Given the description of an element on the screen output the (x, y) to click on. 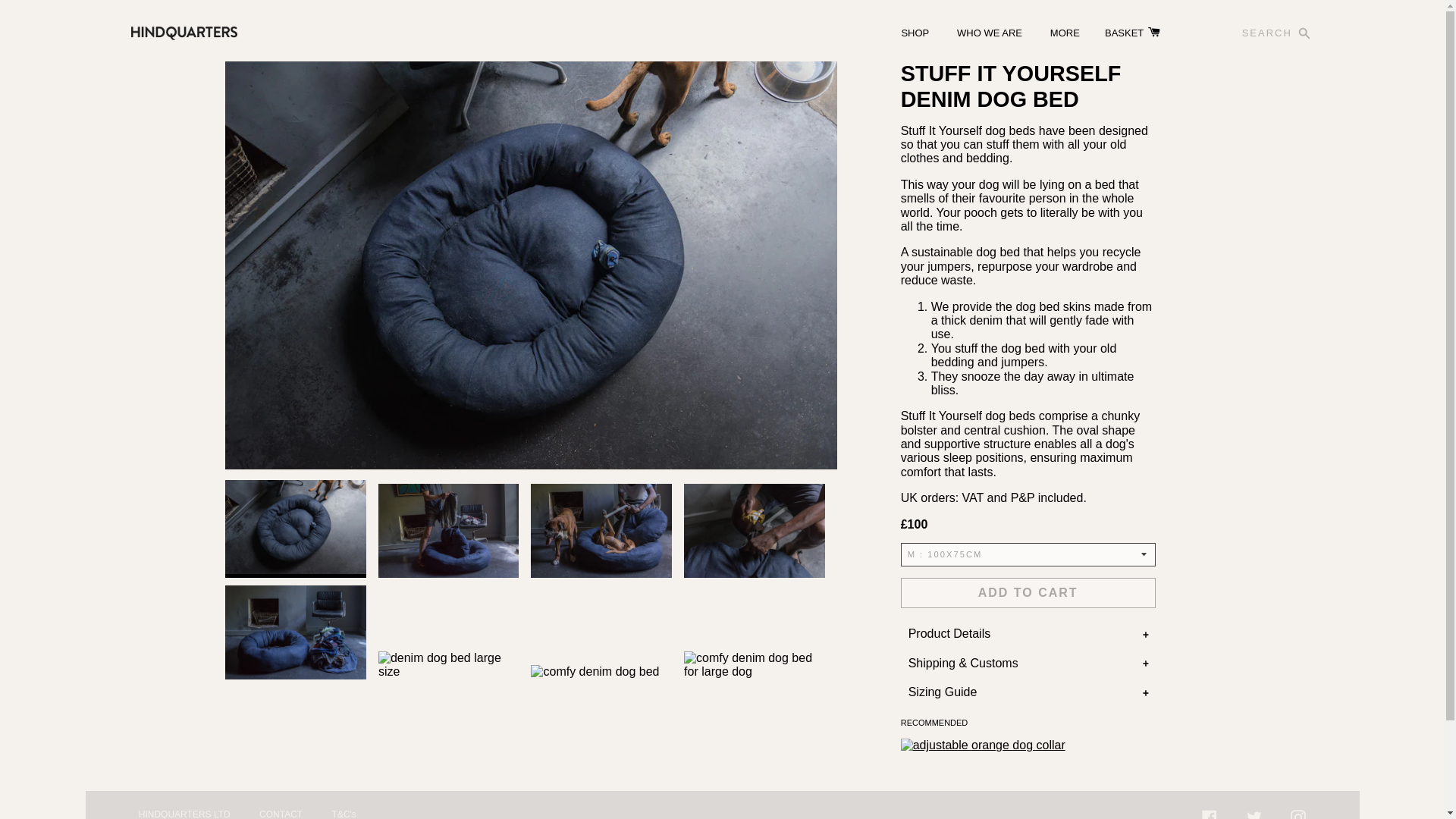
BASKET (1131, 33)
WHO WE ARE (989, 32)
HINDQUARTERS on Facebook (1209, 815)
ADD TO CART (1028, 593)
SHOP (914, 32)
MORE (1064, 32)
HINDQUARTERS on Twitter (1254, 815)
